Given the description of an element on the screen output the (x, y) to click on. 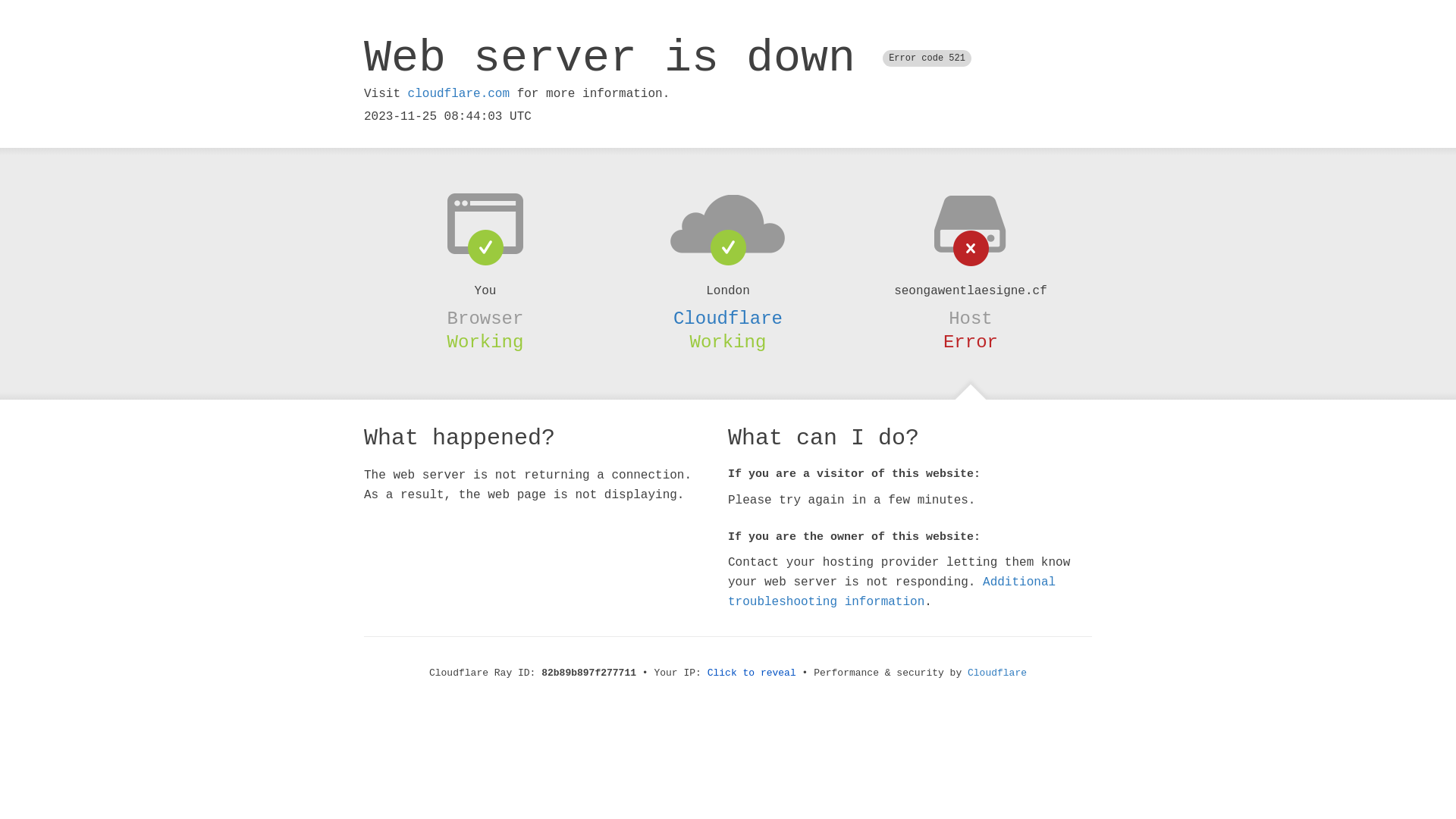
Click to reveal Element type: text (751, 672)
Additional troubleshooting information Element type: text (891, 591)
cloudflare.com Element type: text (458, 93)
Cloudflare Element type: text (996, 672)
Cloudflare Element type: text (727, 318)
